Given the description of an element on the screen output the (x, y) to click on. 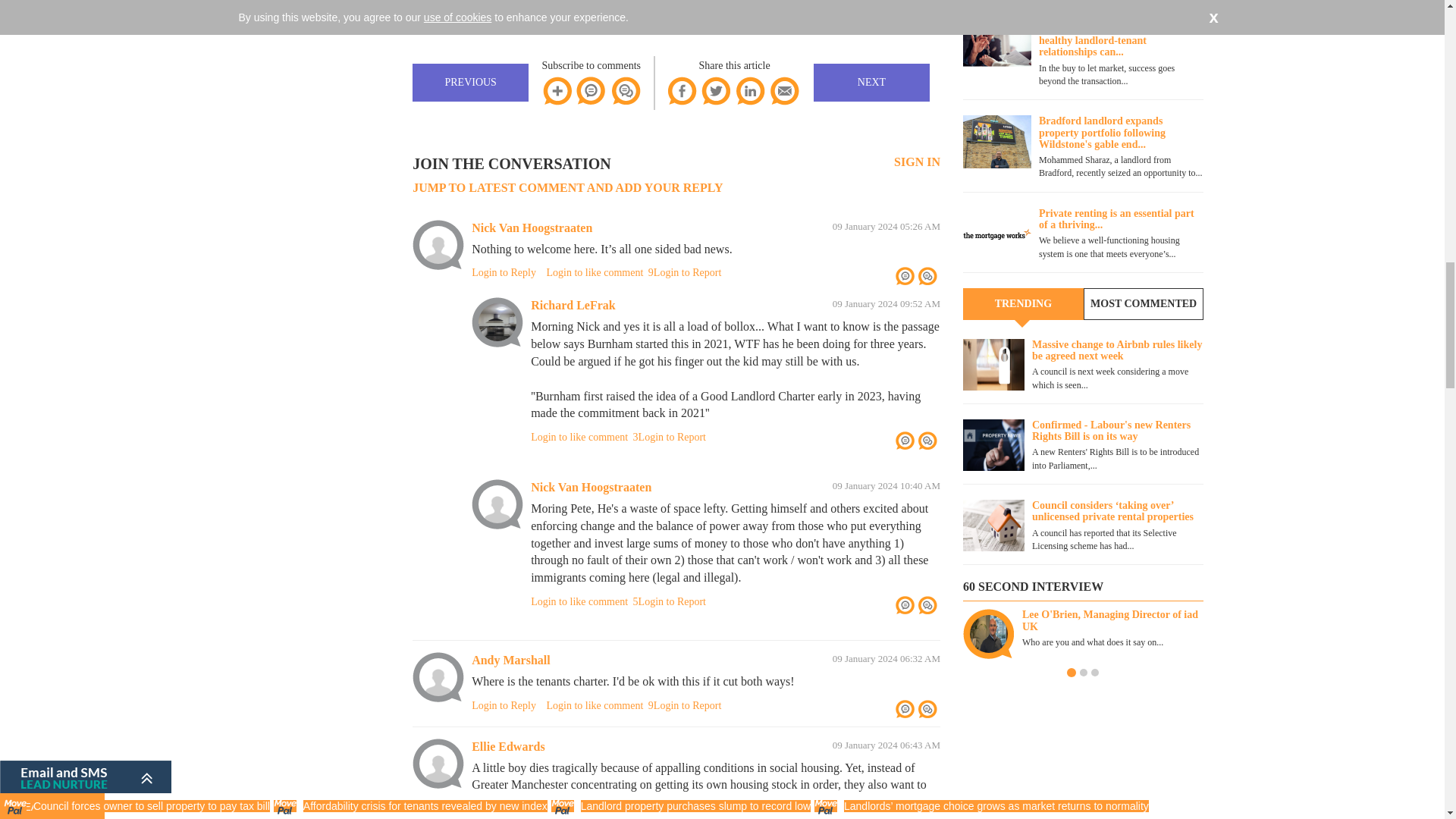
Save for later (556, 90)
Linkedin (750, 91)
Subscribe to comment (591, 90)
Linkedin (750, 90)
Faceboook (681, 91)
Share with a friend (783, 90)
Save for later (556, 91)
Share with a friend (783, 91)
Facebook (681, 90)
Twitter (715, 90)
Subscribe to all comments (625, 91)
Twitter (715, 91)
Subscribe to comment (591, 91)
Subscribe to all comments (625, 90)
